Given the description of an element on the screen output the (x, y) to click on. 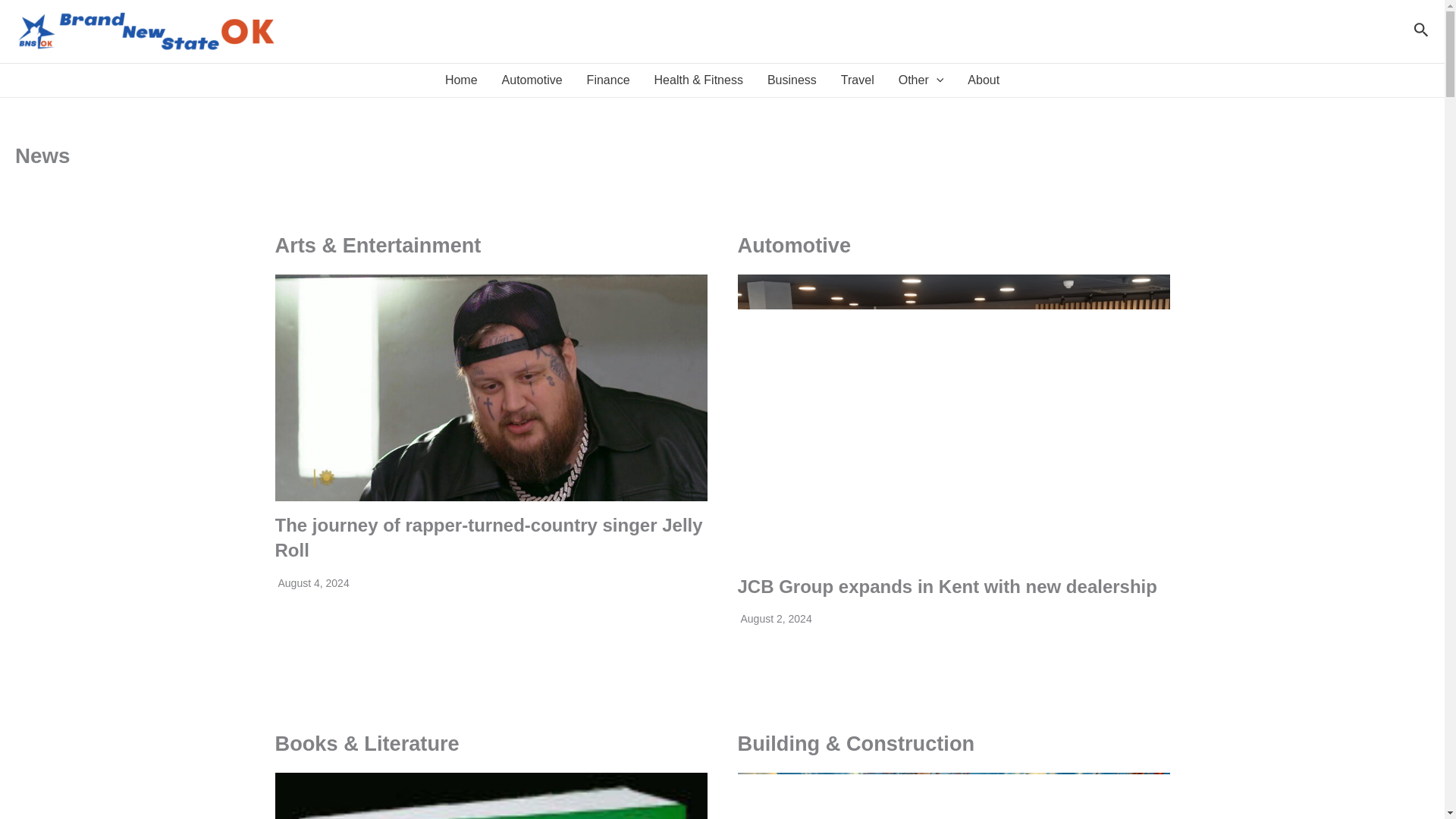
Other (921, 80)
About (983, 80)
Automotive (532, 80)
Home (460, 80)
Business (791, 80)
Finance (608, 80)
Travel (857, 80)
